Given the description of an element on the screen output the (x, y) to click on. 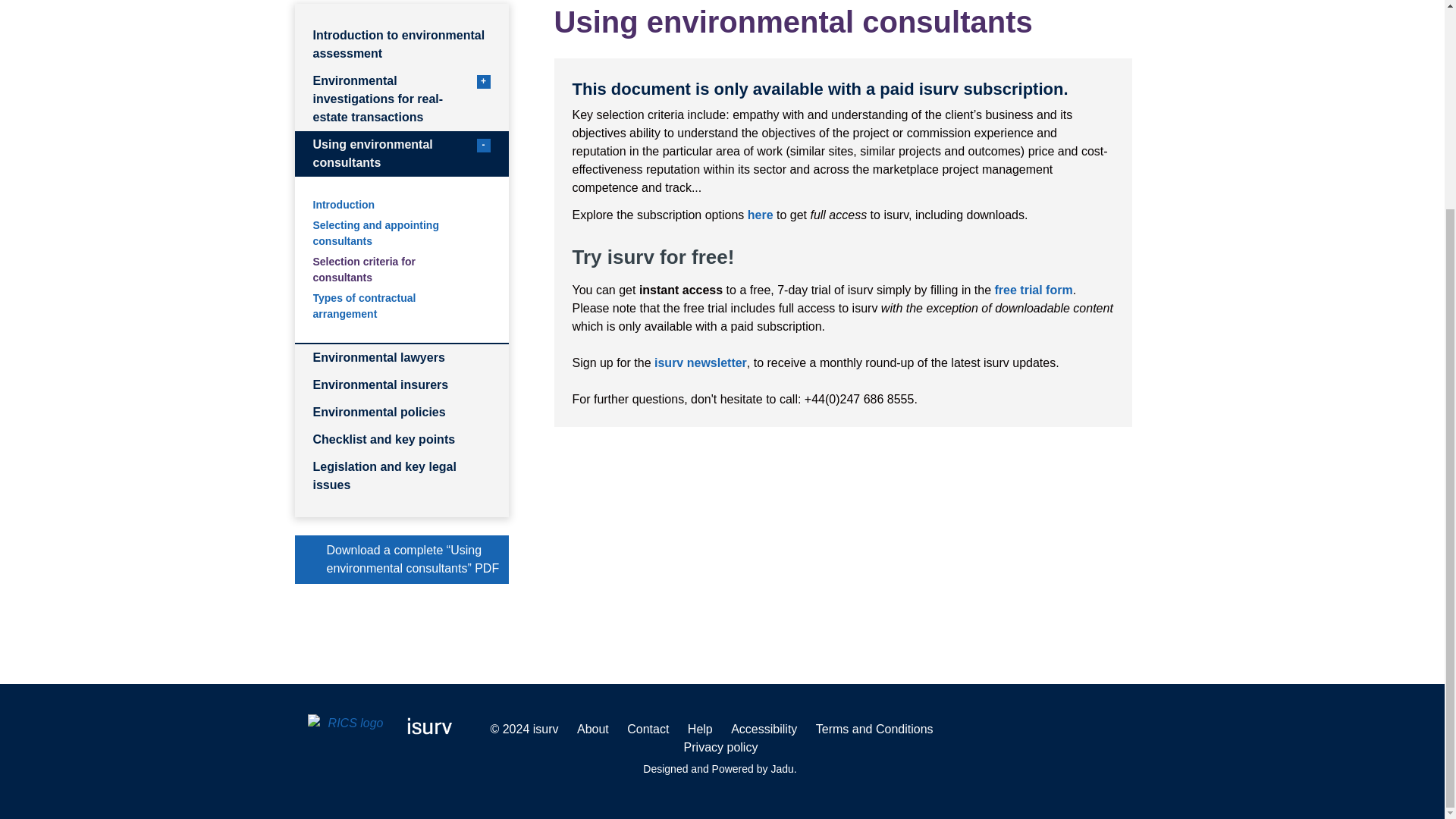
free trial form (1033, 289)
here (760, 214)
Introduction (401, 204)
Introduction to environmental assessment (401, 153)
isurv newsletter (401, 44)
